Given the description of an element on the screen output the (x, y) to click on. 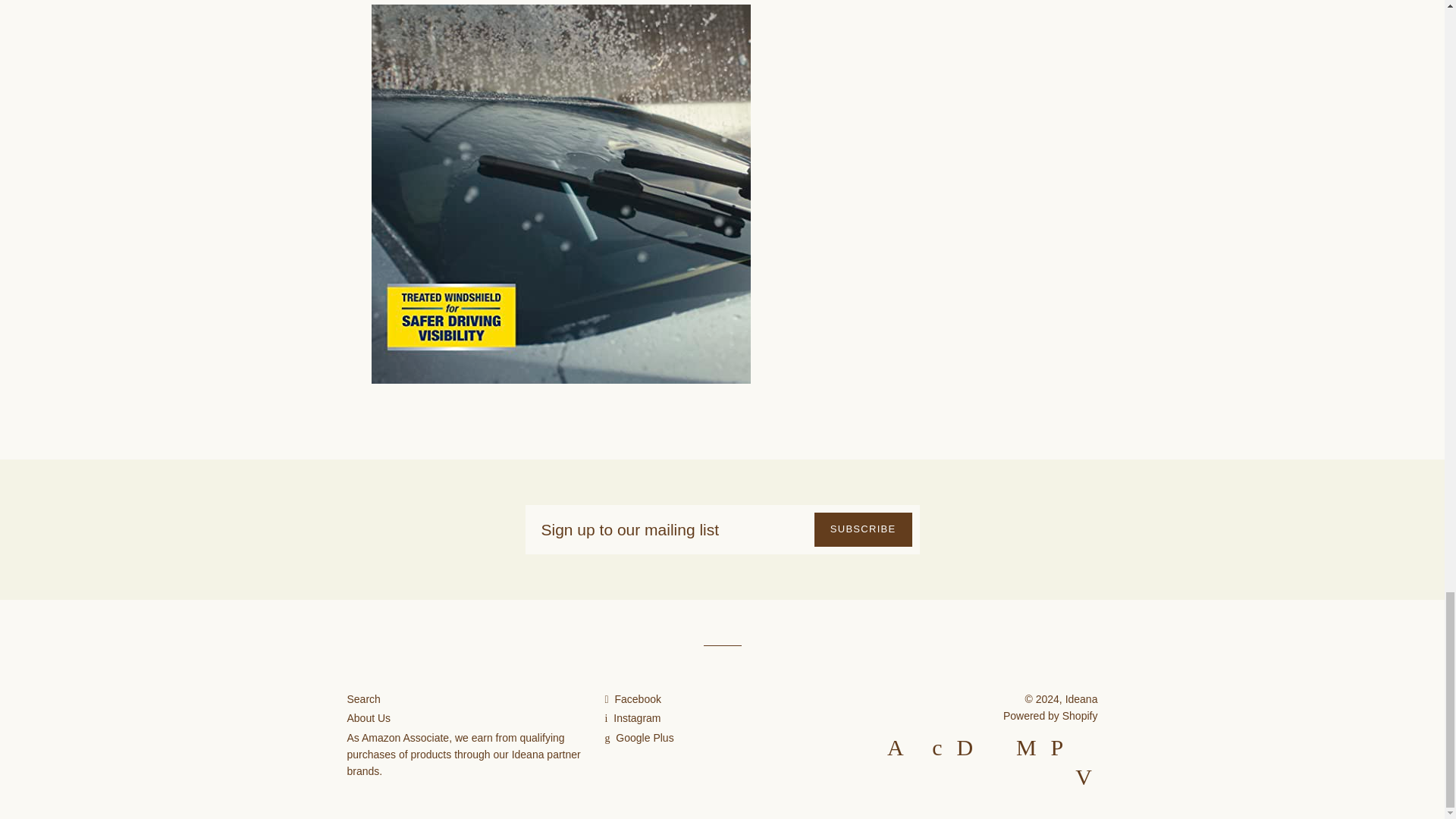
Ideana on Google Plus (638, 737)
Ideana on Facebook (632, 698)
Ideana on Instagram (632, 717)
